Given the description of an element on the screen output the (x, y) to click on. 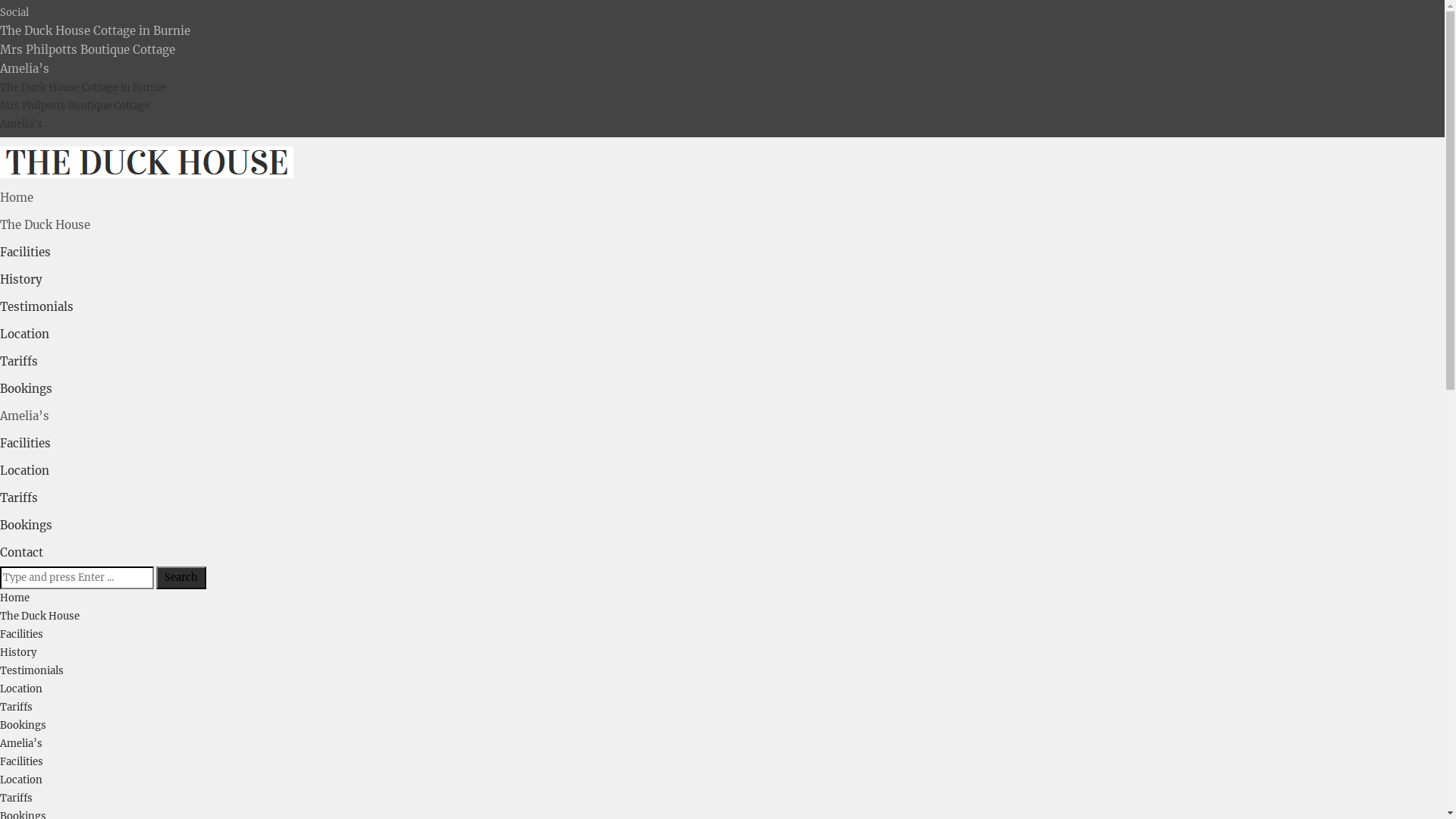
Location Element type: text (21, 779)
Bookings Element type: text (26, 524)
Facilities Element type: text (25, 443)
Home Element type: text (14, 597)
Facilities Element type: text (21, 633)
Location Element type: text (24, 333)
Mrs Philpotts Boutique Cottage Element type: text (87, 49)
Tariffs Element type: text (16, 797)
History Element type: text (21, 279)
Testimonials Element type: text (31, 670)
Mrs Philpotts Boutique Cottage Element type: text (75, 105)
Bookings Element type: text (23, 724)
The Duck House Cottage in Burnie Element type: text (95, 30)
Location Element type: text (21, 688)
Location Element type: text (24, 470)
Tariffs Element type: text (18, 361)
Home Element type: text (16, 197)
Facilities Element type: text (21, 761)
 Search  Element type: text (181, 577)
Testimonials Element type: text (36, 306)
The Duck House Element type: text (39, 615)
Facilities Element type: text (25, 251)
Tariffs Element type: text (18, 497)
The Duck House Cottage in Burnie Element type: text (82, 87)
History Element type: text (18, 652)
Bookings Element type: text (26, 388)
Tariffs Element type: text (16, 706)
The Duck House Element type: text (45, 224)
Contact Element type: text (21, 552)
